Given the description of an element on the screen output the (x, y) to click on. 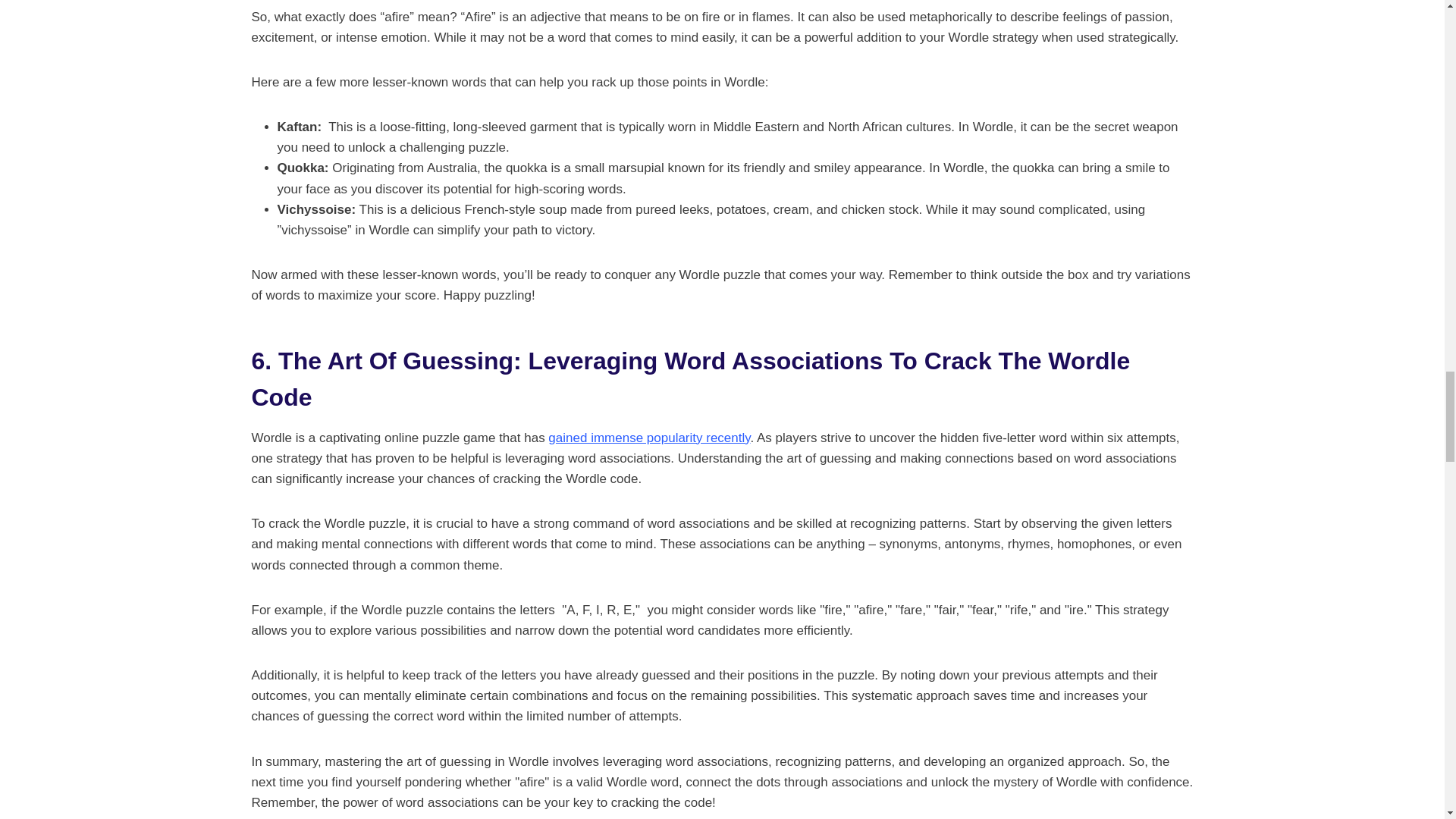
Cricket Wordle: Swinging with Word Puzzles (648, 437)
gained immense popularity recently (648, 437)
